Given the description of an element on the screen output the (x, y) to click on. 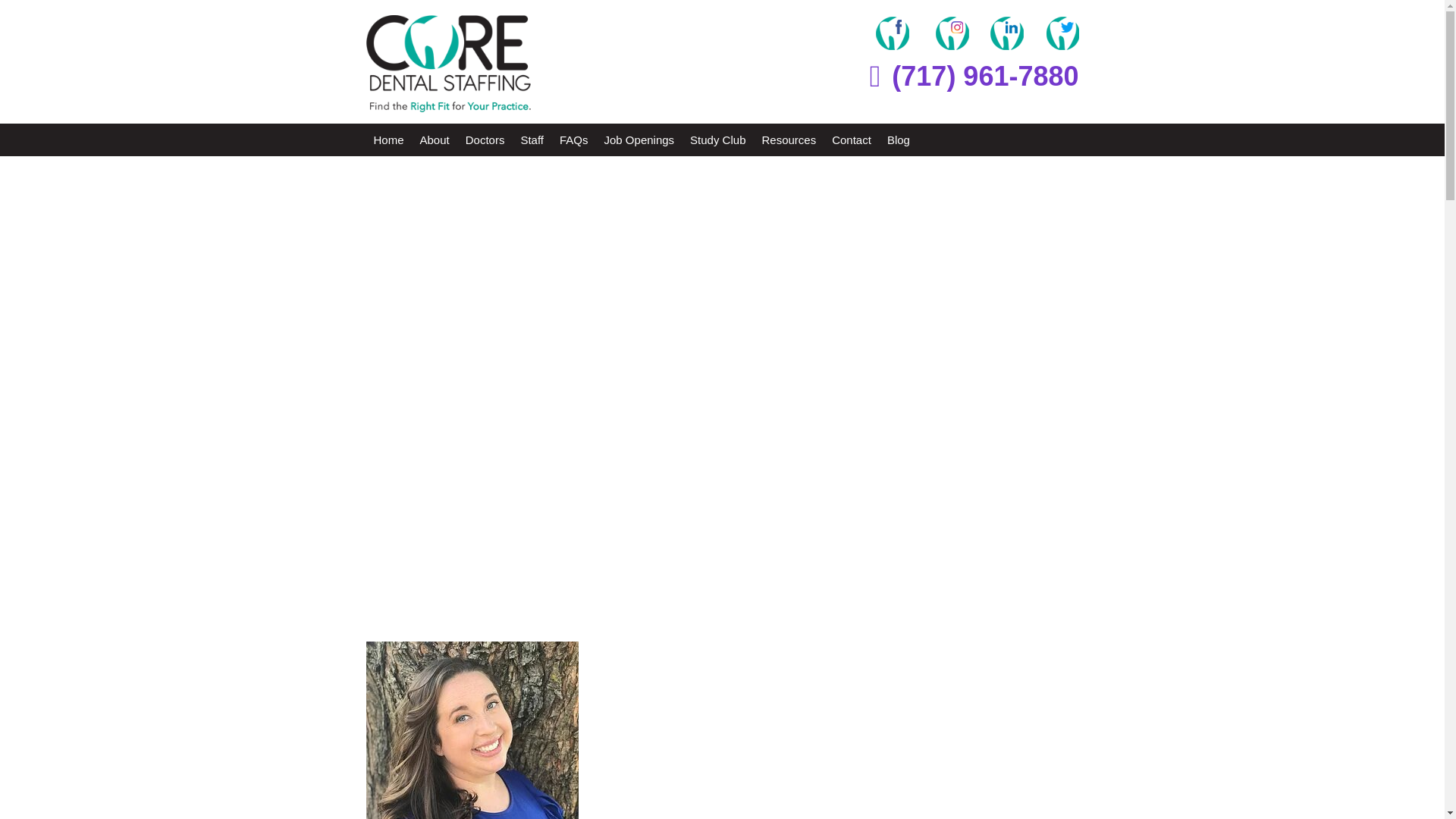
Doctors (485, 139)
Resources (789, 139)
Staff (531, 139)
Blog (898, 139)
Core Dental Staffing (447, 63)
linkedin (1006, 32)
Study Club (717, 139)
twitter (1062, 32)
FAQs (573, 139)
Contact (851, 139)
